Given the description of an element on the screen output the (x, y) to click on. 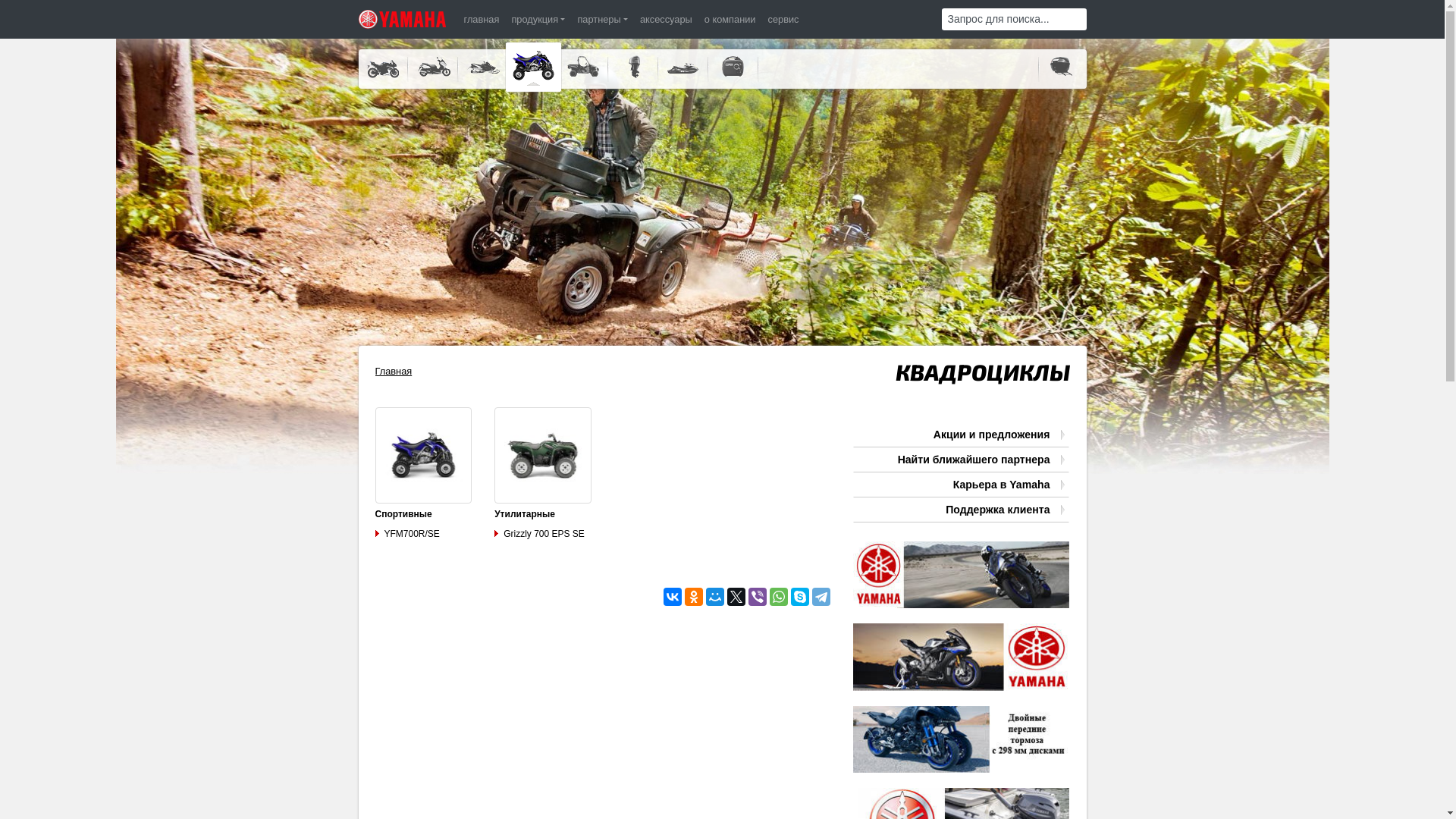
Motocycle Element type: hover (961, 656)
Telegram Element type: hover (821, 596)
Twitter Element type: hover (736, 596)
Grizzly 700 EPS SE Element type: text (539, 533)
Motocycle Element type: hover (961, 664)
Skype Element type: hover (799, 596)
Viber Element type: hover (757, 596)
WhatsApp Element type: hover (778, 596)
YFM700R/SE Element type: text (406, 533)
